Given the description of an element on the screen output the (x, y) to click on. 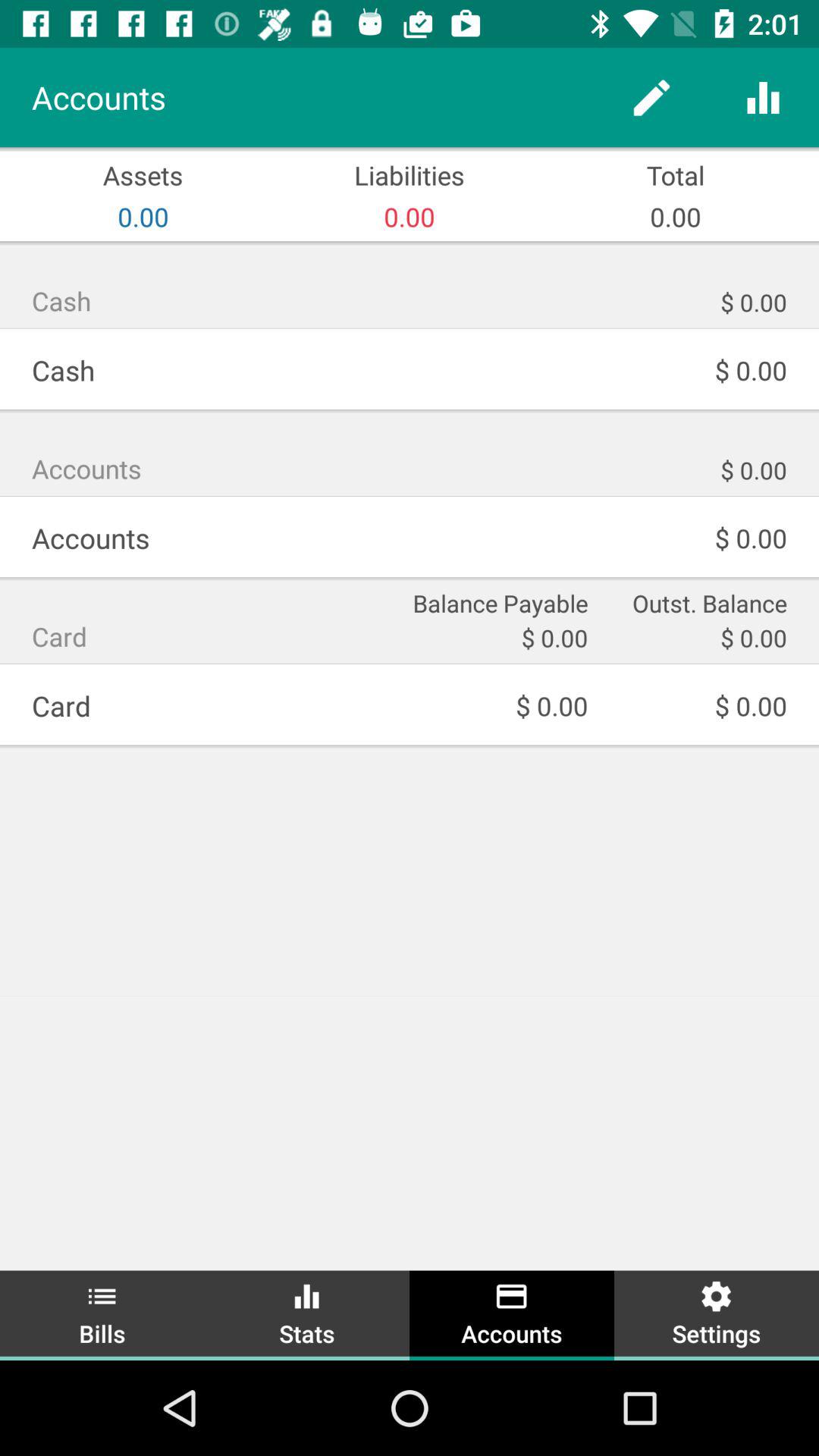
select the bills icon (102, 1313)
